Given the description of an element on the screen output the (x, y) to click on. 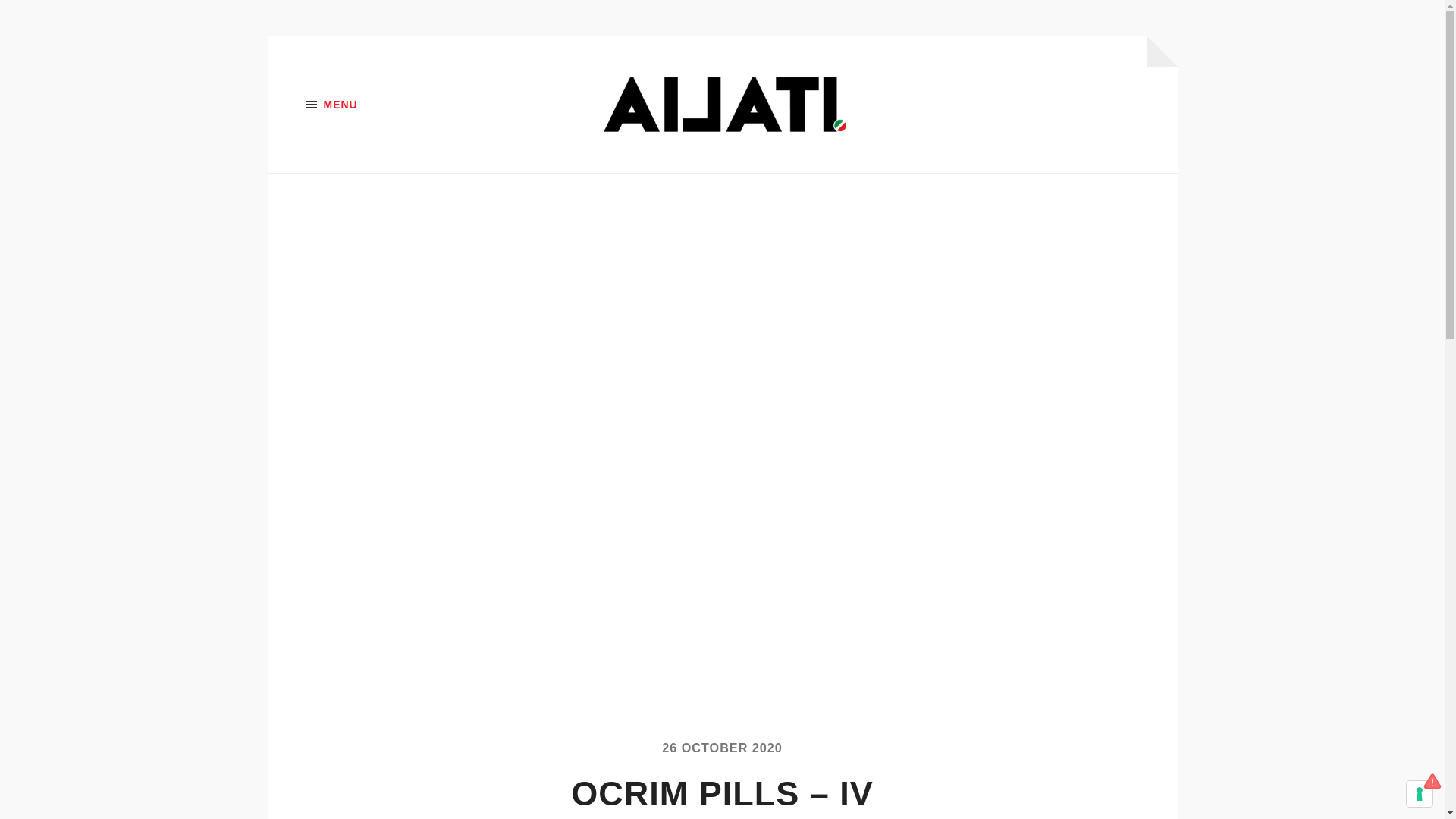
MENU (380, 104)
26 OCTOBER 2020 (722, 747)
Ai-Lati (723, 104)
